Given the description of an element on the screen output the (x, y) to click on. 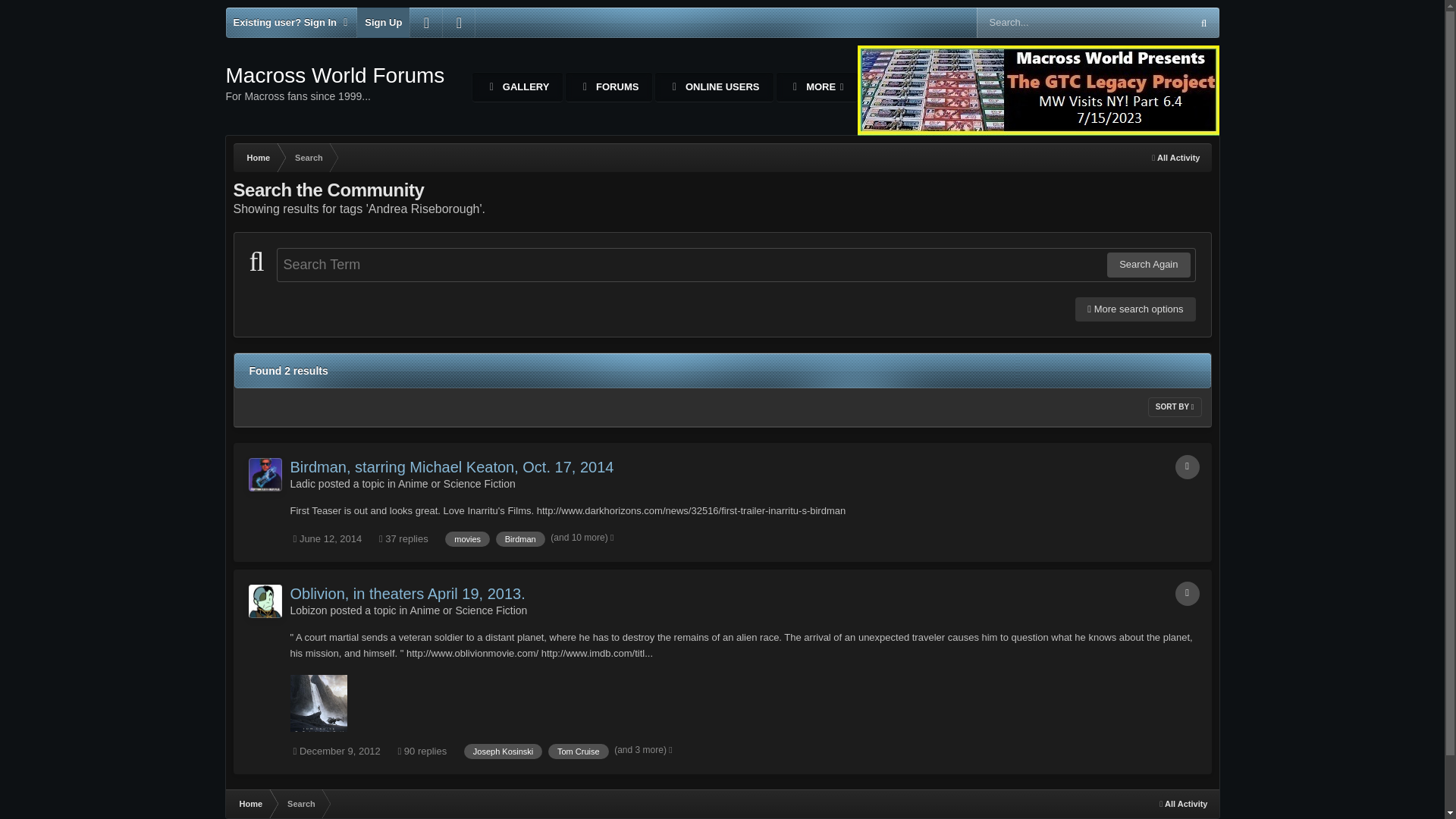
Existing user? Sign In   (290, 22)
All Activity (1175, 157)
Find other content tagged with 'Birdman' (520, 539)
More search options (1135, 309)
Topic (1186, 467)
Home (257, 157)
Sign Up (382, 22)
Search (307, 157)
GALLERY (335, 82)
MORE (516, 86)
Go to Ladic's profile (816, 86)
Light Mode (265, 474)
Search Again (458, 22)
Customizer (1147, 264)
